Given the description of an element on the screen output the (x, y) to click on. 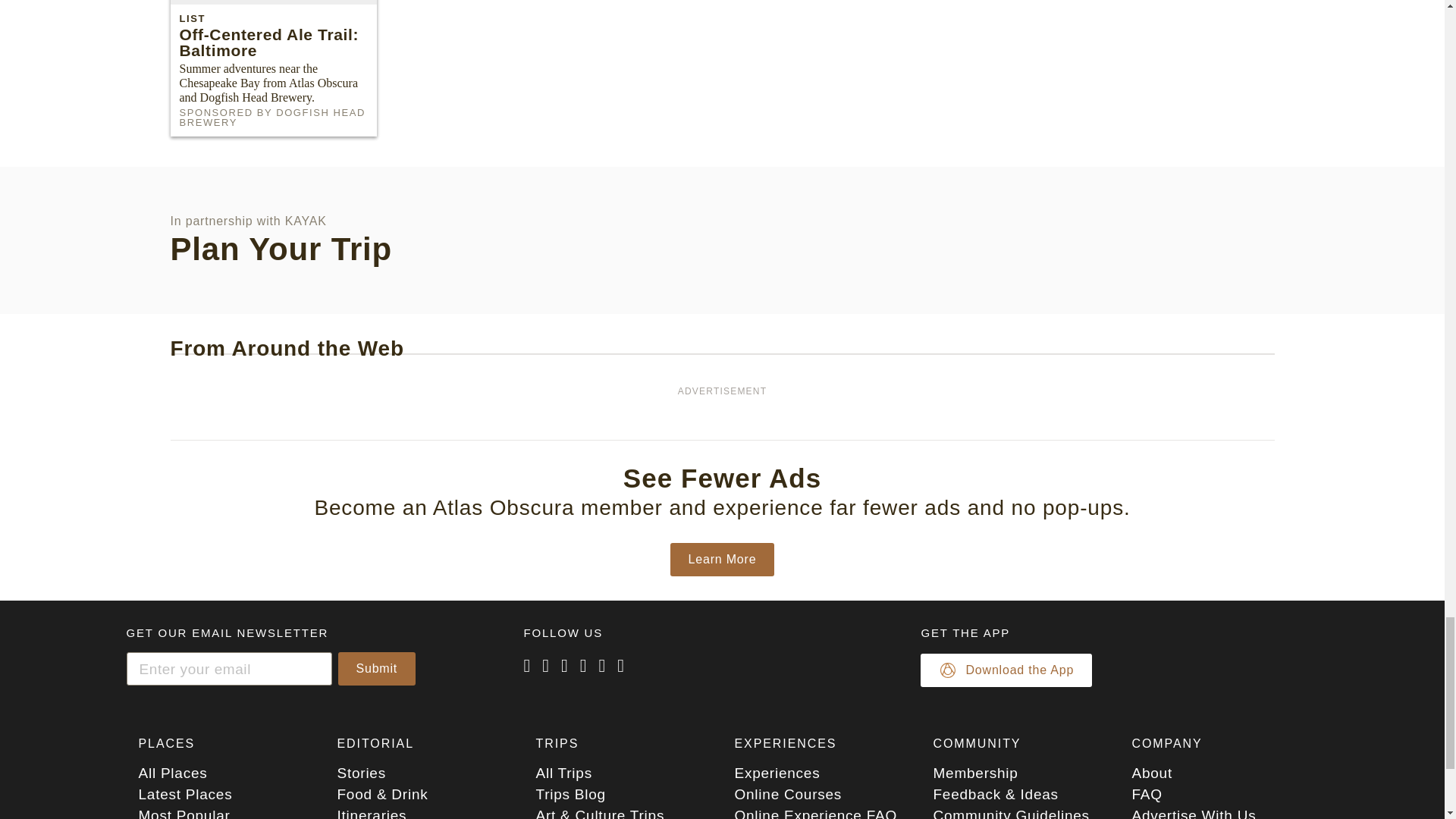
Submit (376, 668)
